Given the description of an element on the screen output the (x, y) to click on. 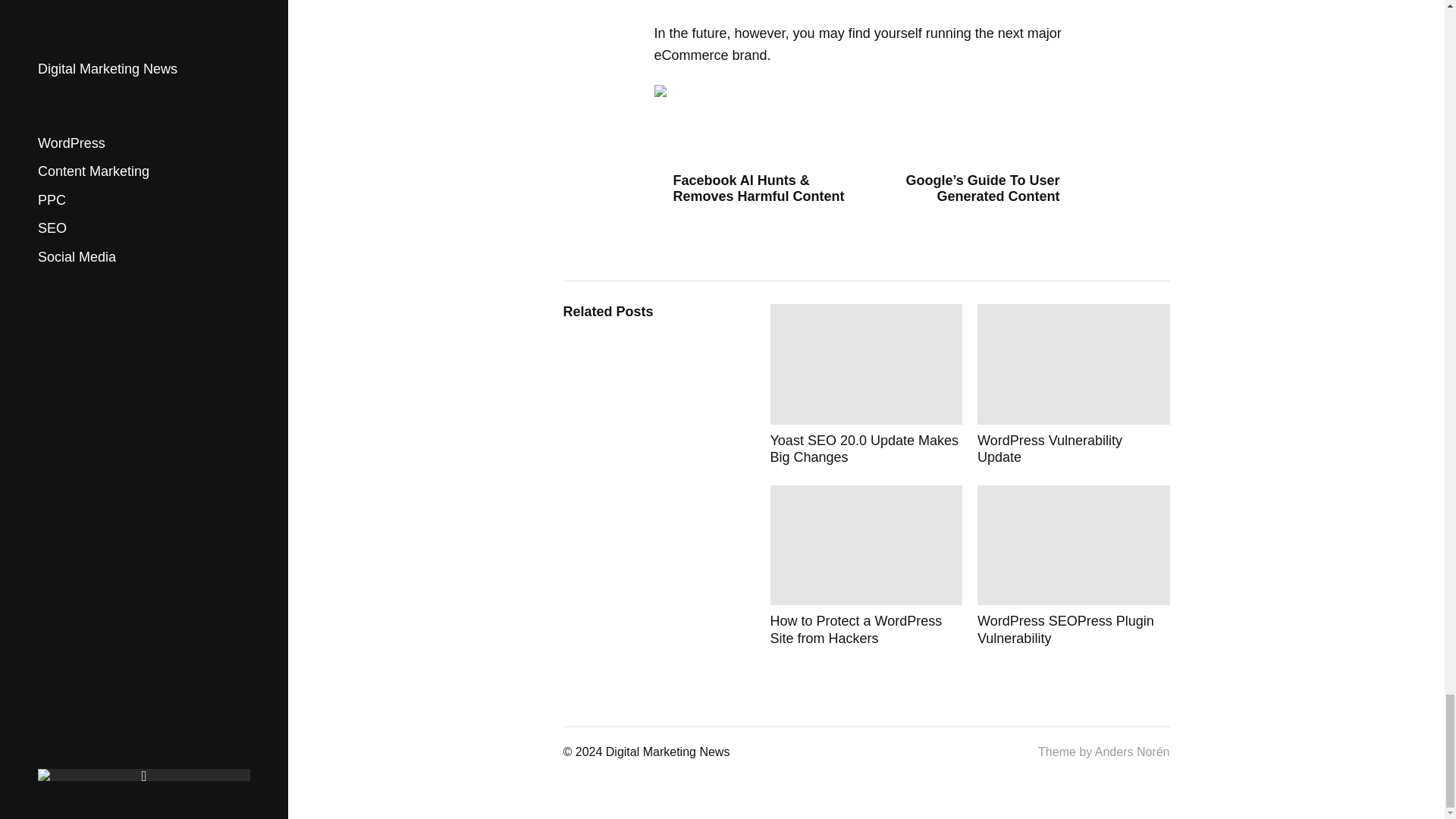
WordPress Vulnerability Update (1073, 384)
Digital Marketing News (667, 752)
How to Protect a WordPress Site from Hackers (866, 566)
Yoast SEO 20.0 Update Makes Big Changes (866, 384)
WordPress SEOPress Plugin Vulnerability (1073, 566)
